Given the description of an element on the screen output the (x, y) to click on. 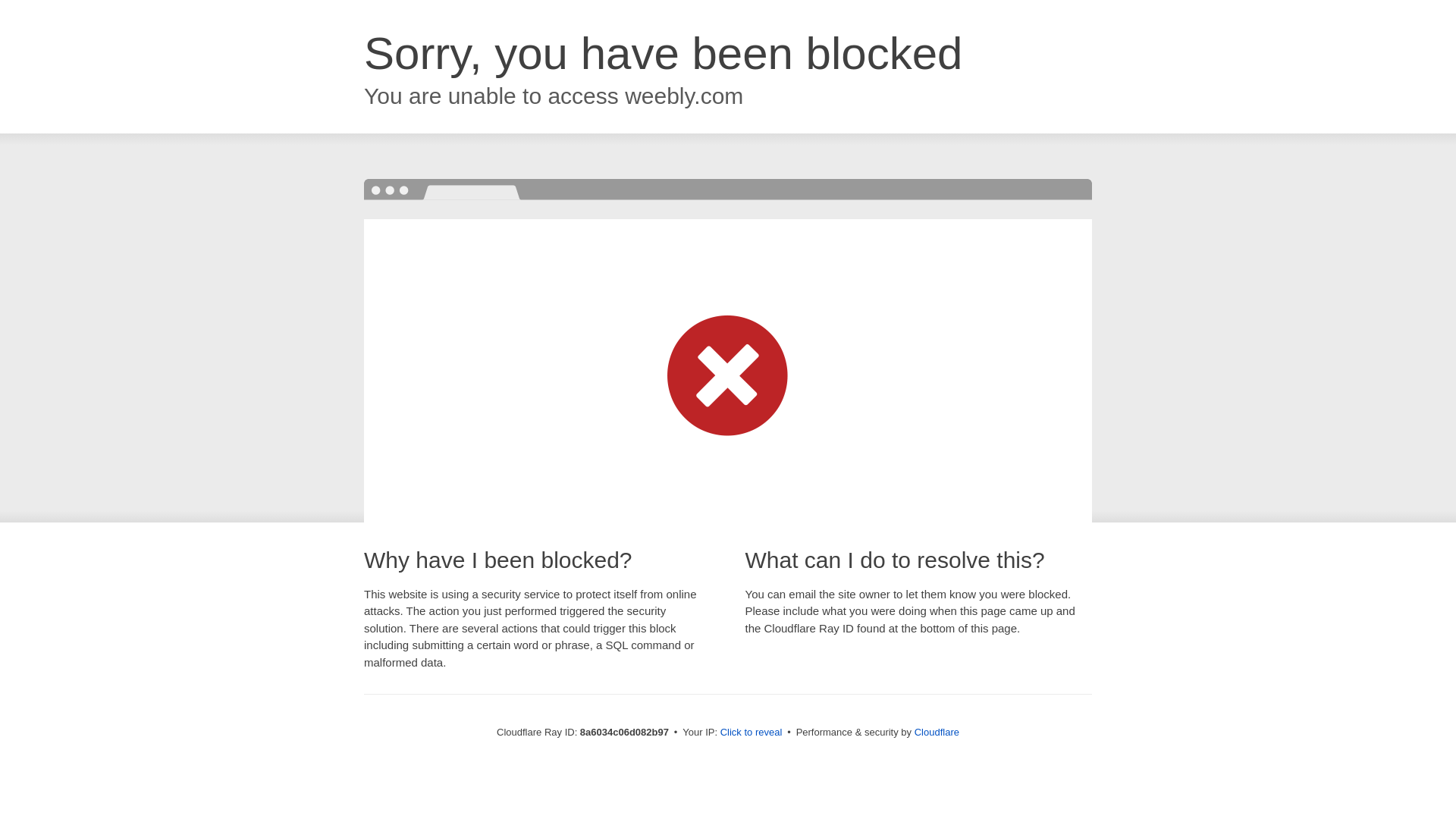
Cloudflare (936, 731)
Click to reveal (751, 732)
